Given the description of an element on the screen output the (x, y) to click on. 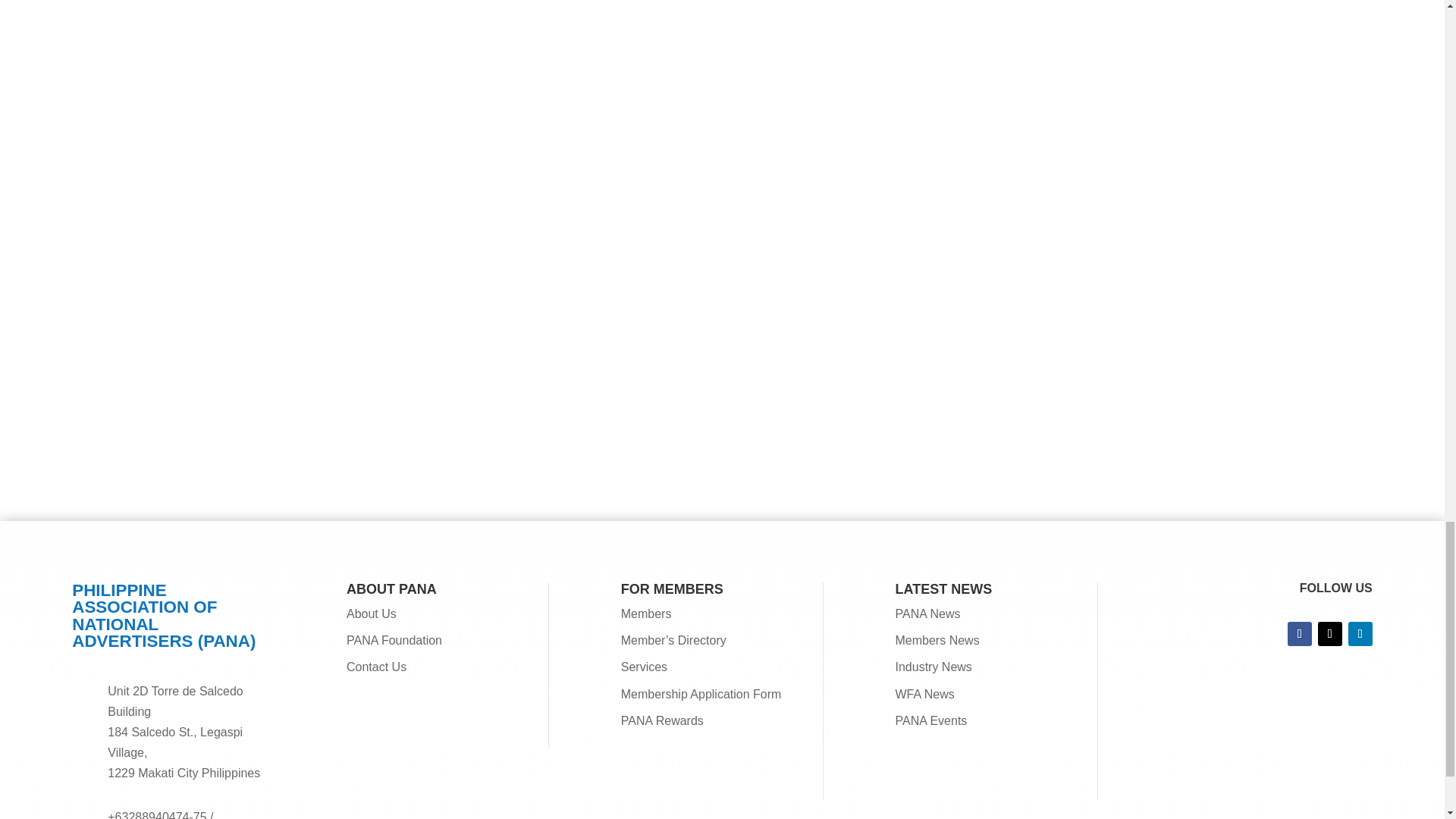
Follow on Facebook (1299, 633)
Follow on X (1329, 633)
Follow on LinkedIn (1360, 633)
